Given the description of an element on the screen output the (x, y) to click on. 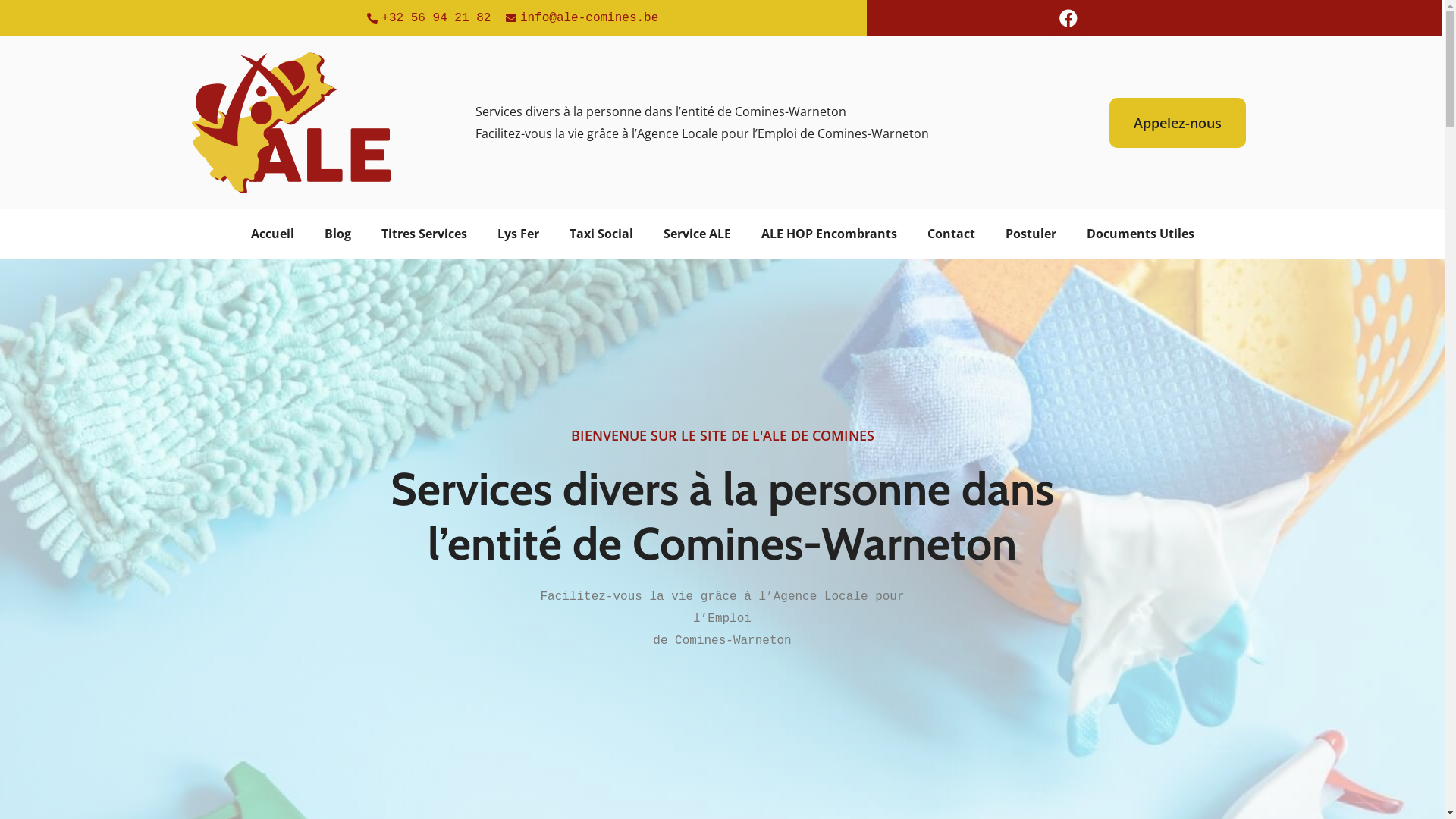
Titres Services Element type: text (423, 233)
Blog Element type: text (337, 233)
Lys Fer Element type: text (518, 233)
Taxi Social Element type: text (600, 233)
Service ALE Element type: text (696, 233)
Contact Element type: text (950, 233)
Documents Utiles Element type: text (1139, 233)
ALE HOP Encombrants Element type: text (829, 233)
Appelez-nous Element type: text (1177, 122)
Postuler Element type: text (1030, 233)
Accueil Element type: text (271, 233)
info@ale-comines.be Element type: text (580, 18)
